Given the description of an element on the screen output the (x, y) to click on. 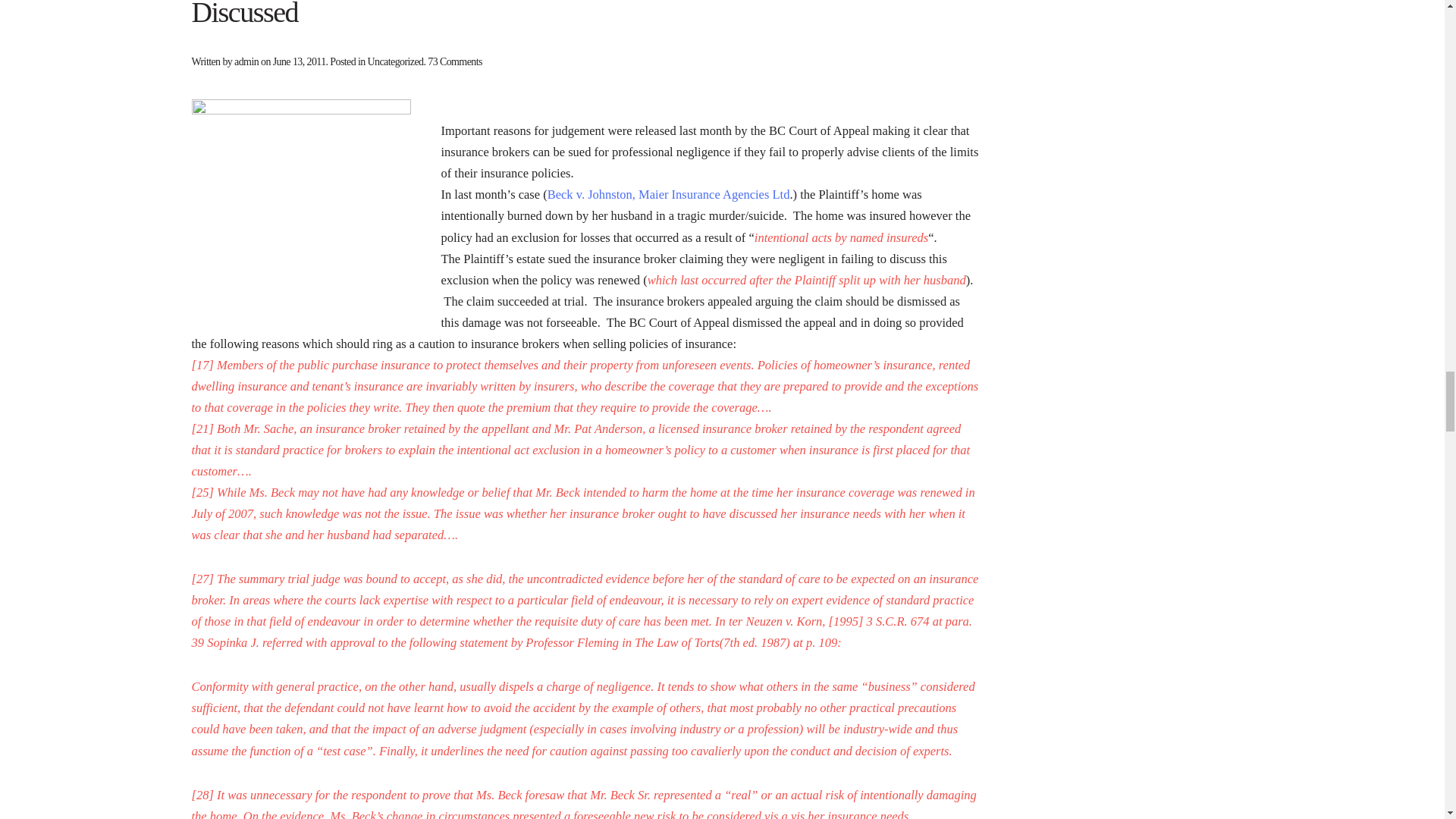
bc-injury-law-insurance-broker2 (300, 212)
